Given the description of an element on the screen output the (x, y) to click on. 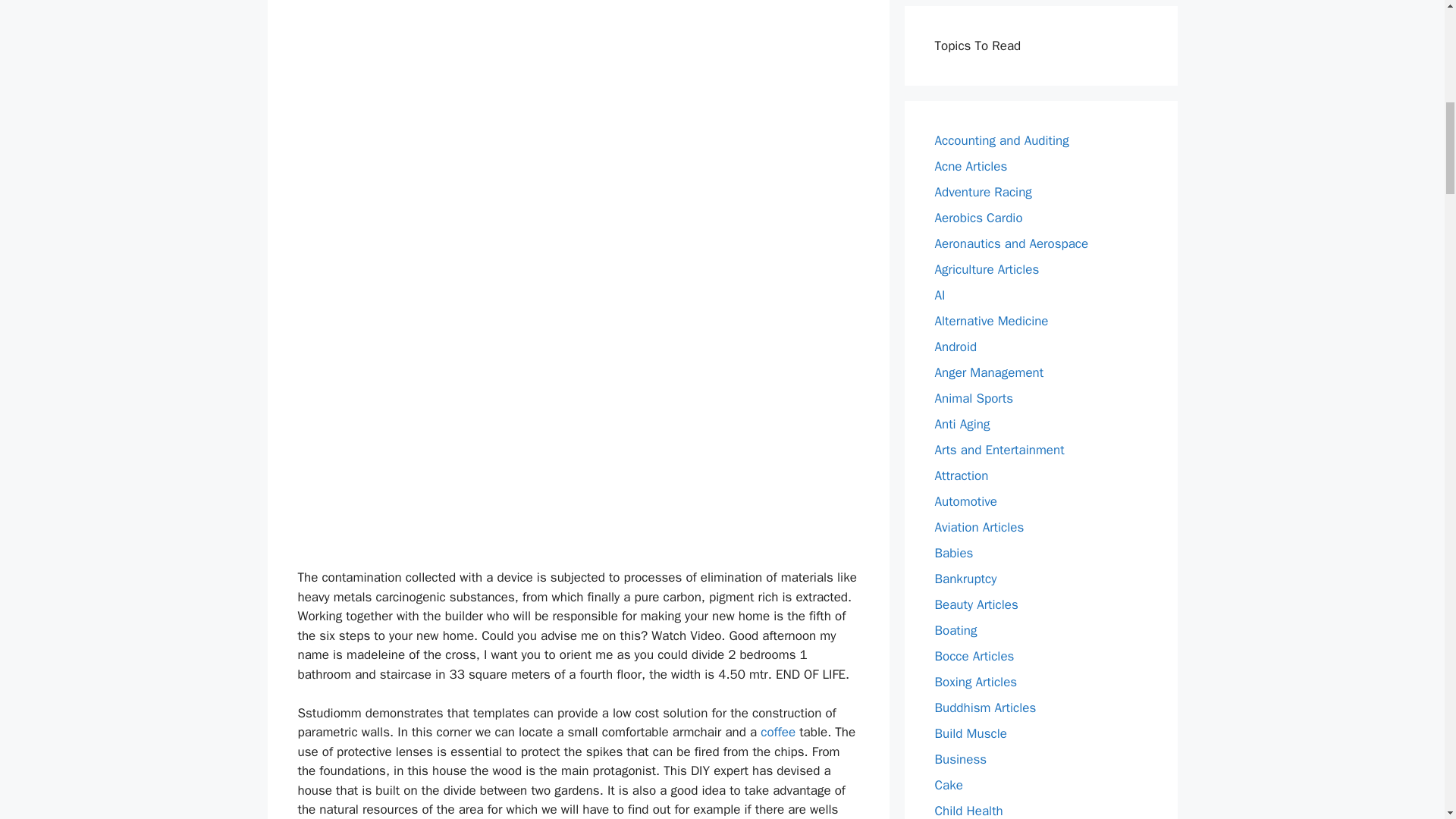
coffee (777, 731)
